Given the description of an element on the screen output the (x, y) to click on. 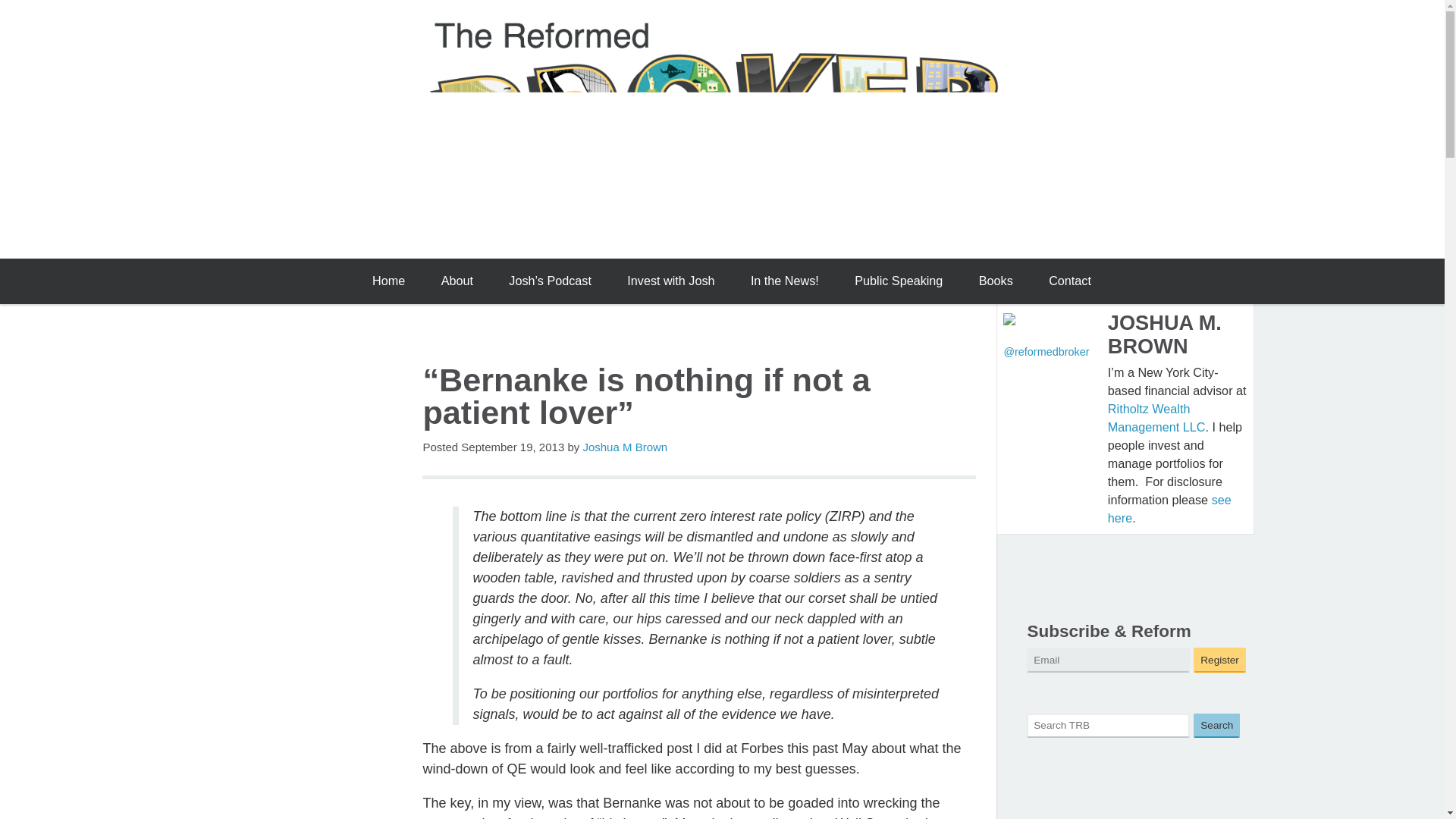
Books (995, 280)
About (456, 280)
Invest with Josh (670, 280)
Public Speaking (899, 280)
Register (1218, 659)
Joshua M Brown (624, 446)
Contact (1069, 280)
Home (388, 280)
In the News! (784, 280)
Posts by Joshua M Brown (624, 446)
Search (1216, 725)
